Given the description of an element on the screen output the (x, y) to click on. 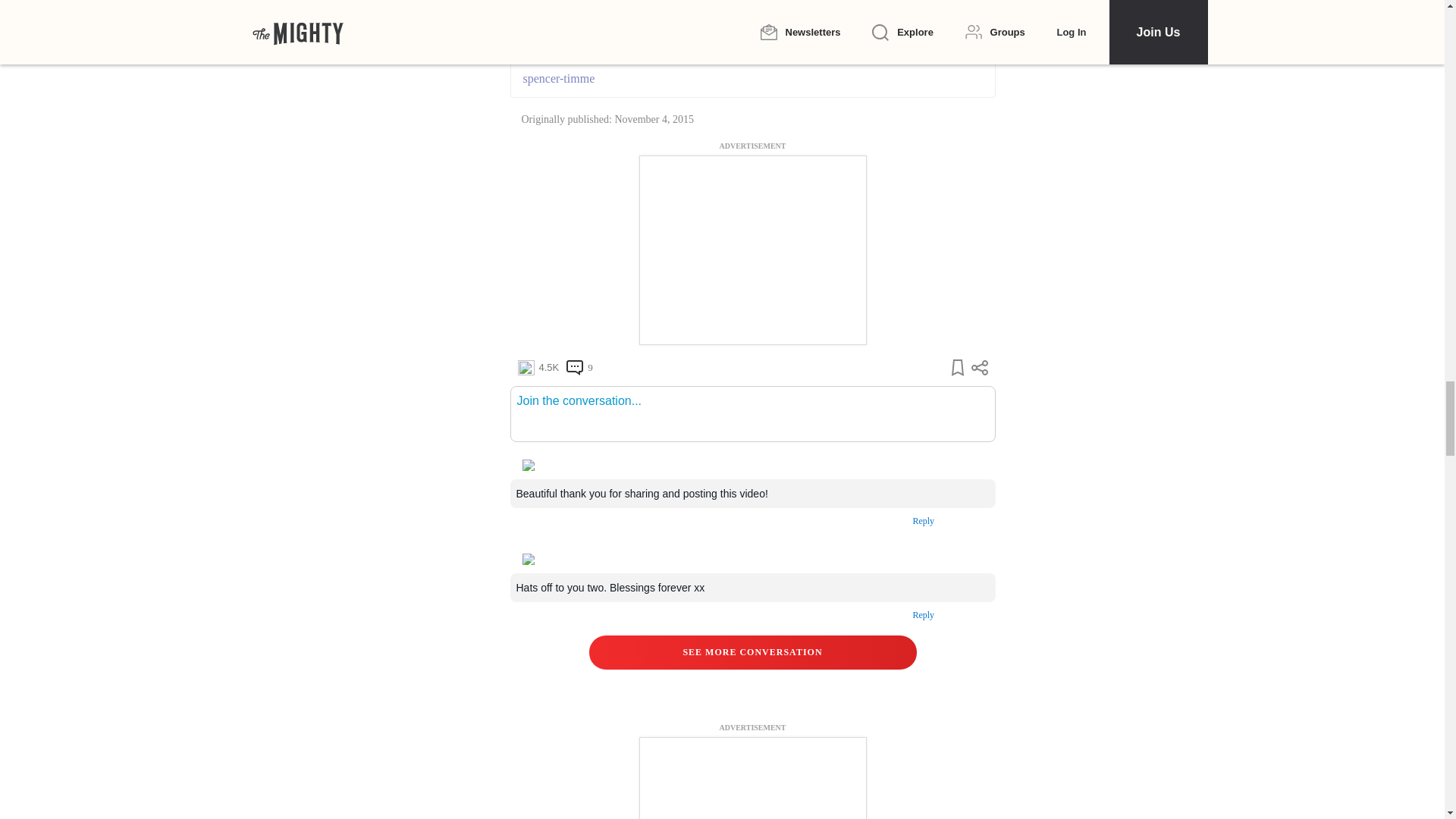
spencer-timme (752, 78)
